Given the description of an element on the screen output the (x, y) to click on. 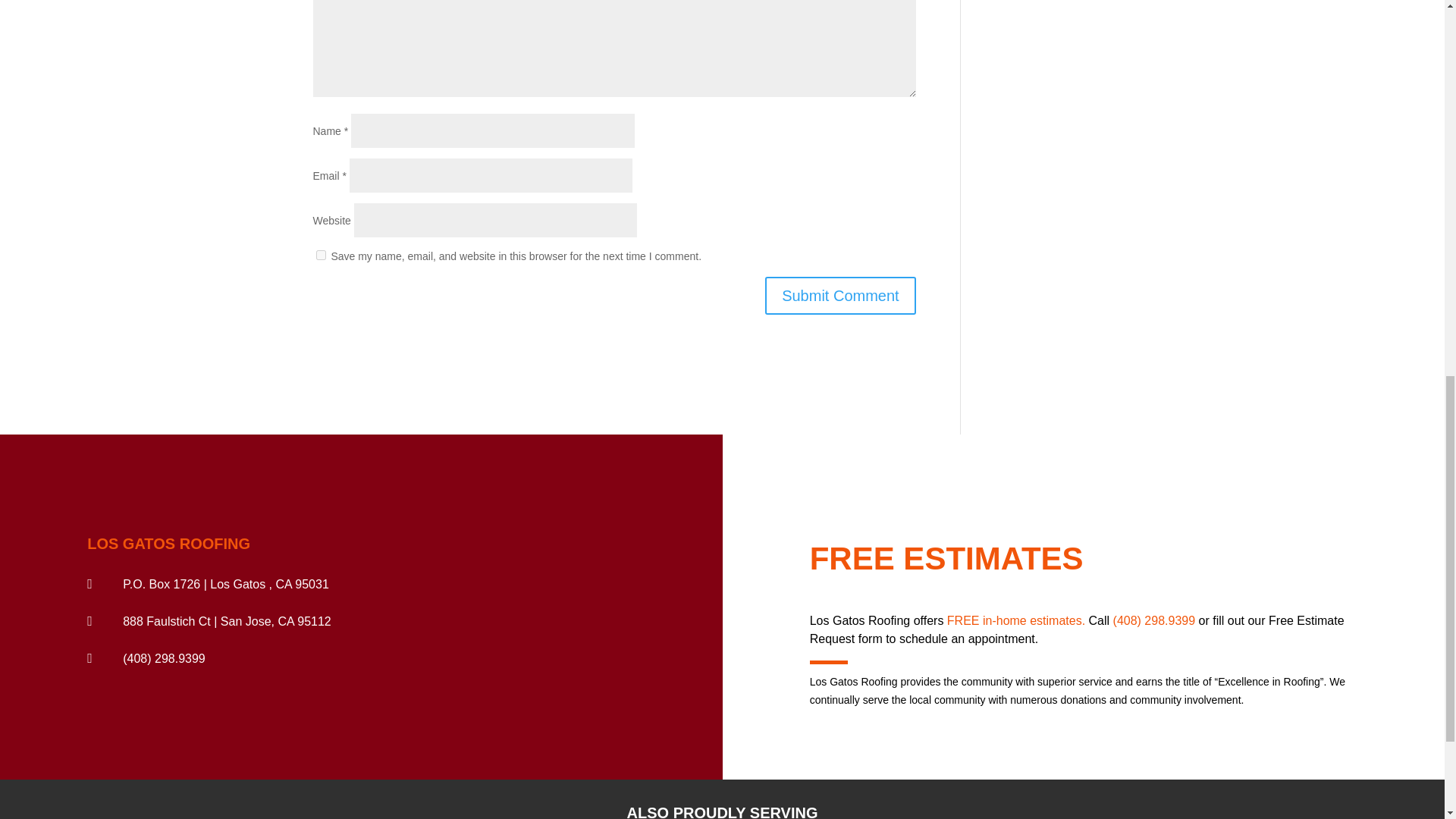
LOS GATOS ROOFING (168, 543)
Submit Comment (840, 295)
FREE in-home estimates. (1015, 620)
Submit Comment (840, 295)
yes (319, 255)
